Given the description of an element on the screen output the (x, y) to click on. 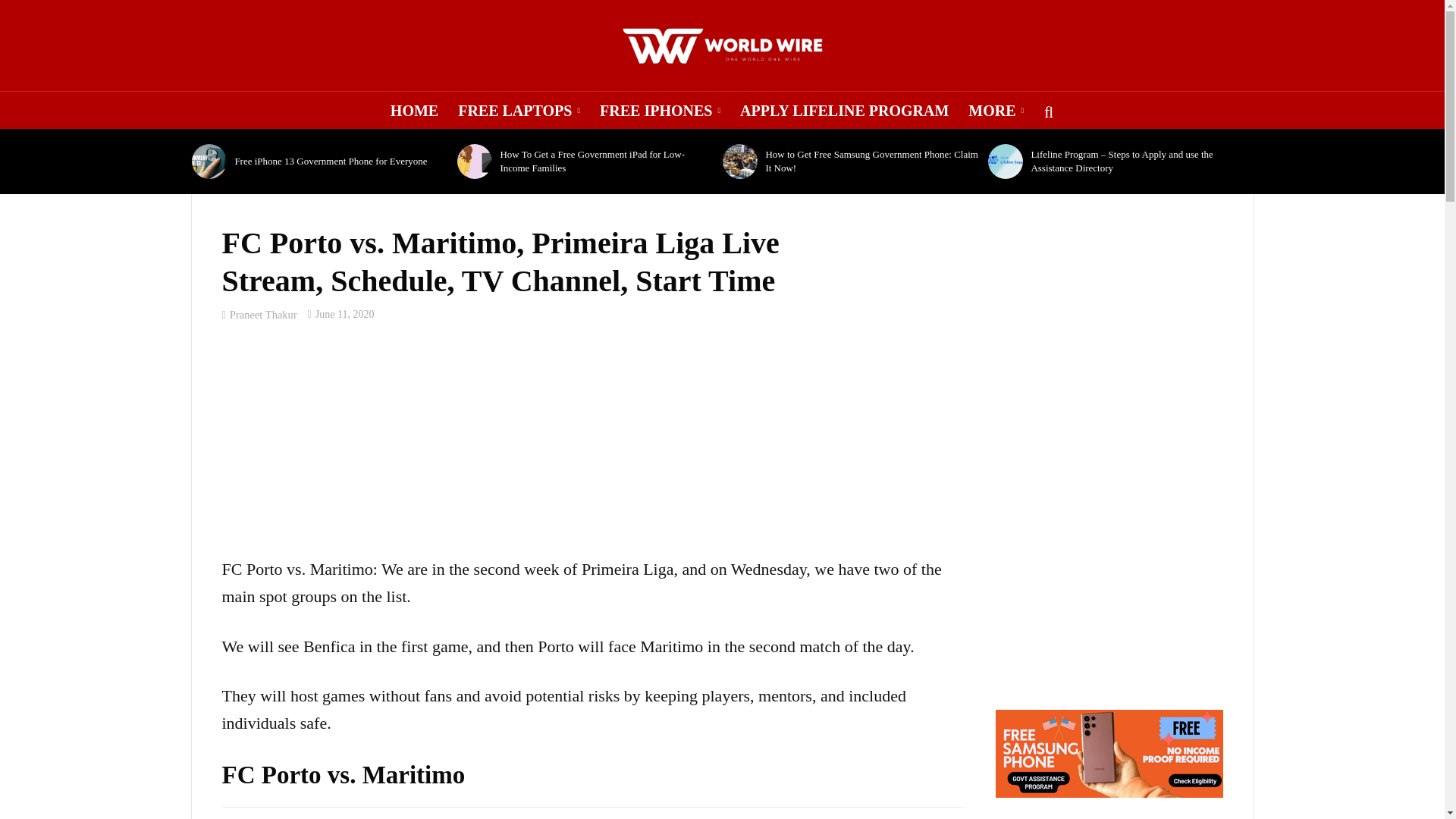
FREE LAPTOPS (518, 110)
How to Get Free Samsung Government Phone: Claim It Now! (739, 161)
How To Get a Free Government iPad for Low-Income Families (474, 161)
APPLY LIFELINE PROGRAM (844, 110)
FREE IPHONES (659, 110)
Free iPhone 13 Government Phone for Everyone (208, 161)
HOME (414, 110)
MORE (995, 110)
